Given the description of an element on the screen output the (x, y) to click on. 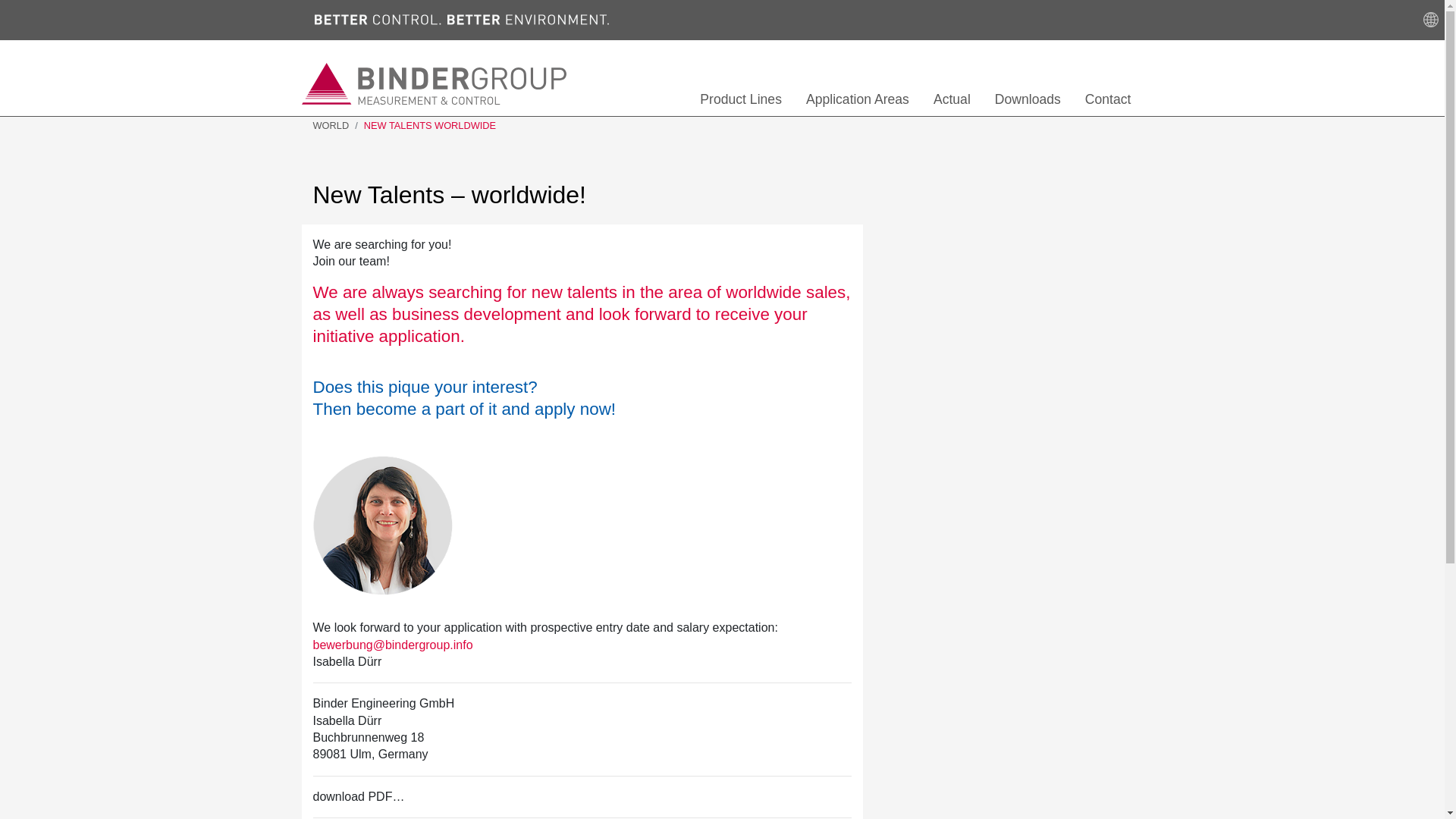
Downloads (1027, 100)
WORLD (331, 125)
Actual (951, 100)
Product Lines (740, 100)
Application Areas (857, 100)
Contact (1107, 100)
Product Lines (740, 100)
Application Areas (857, 100)
